Given the description of an element on the screen output the (x, y) to click on. 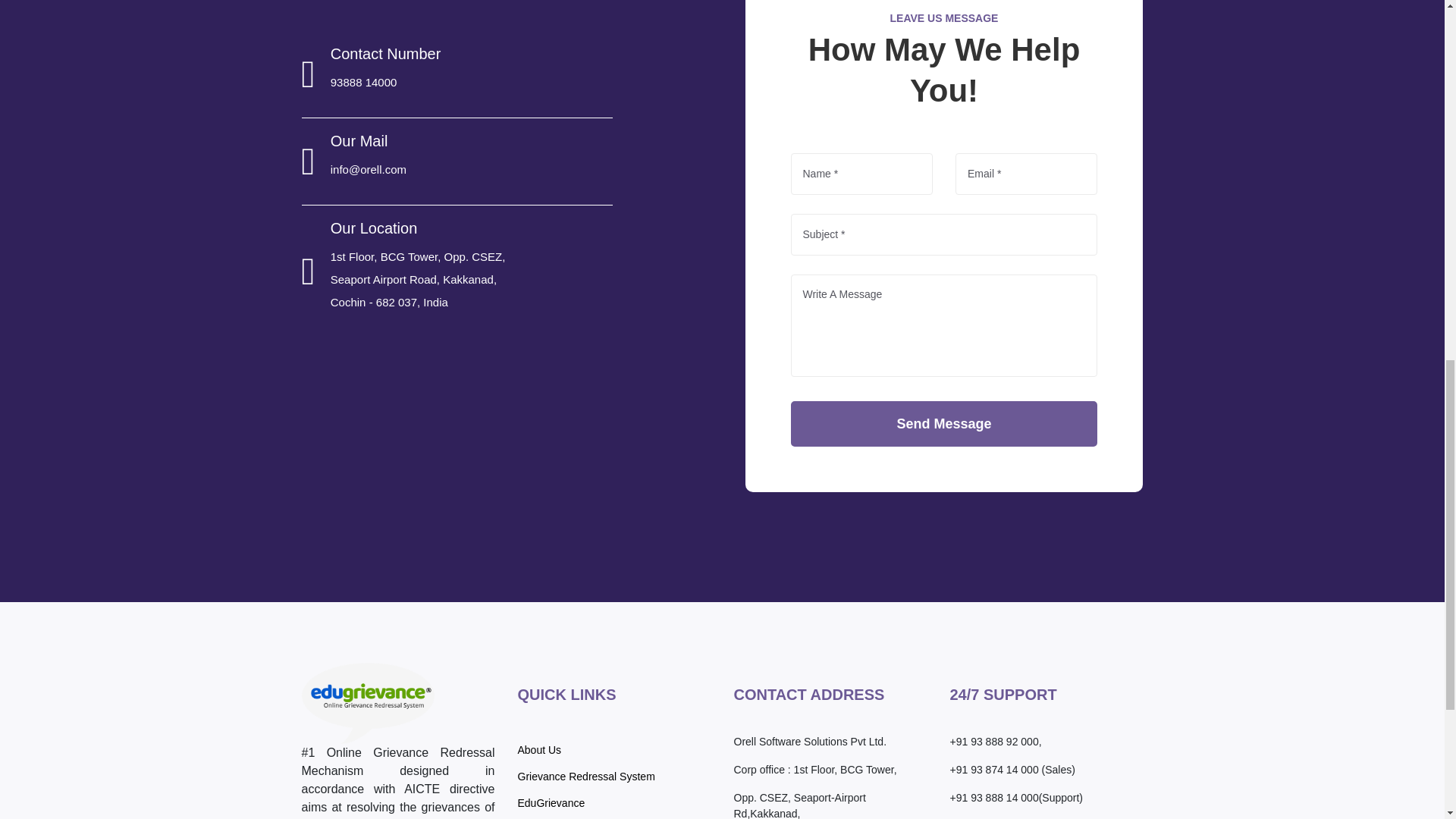
About Us (538, 749)
EduGrievance (550, 803)
Send Message (943, 423)
Grievance Redressal System (584, 776)
